Given the description of an element on the screen output the (x, y) to click on. 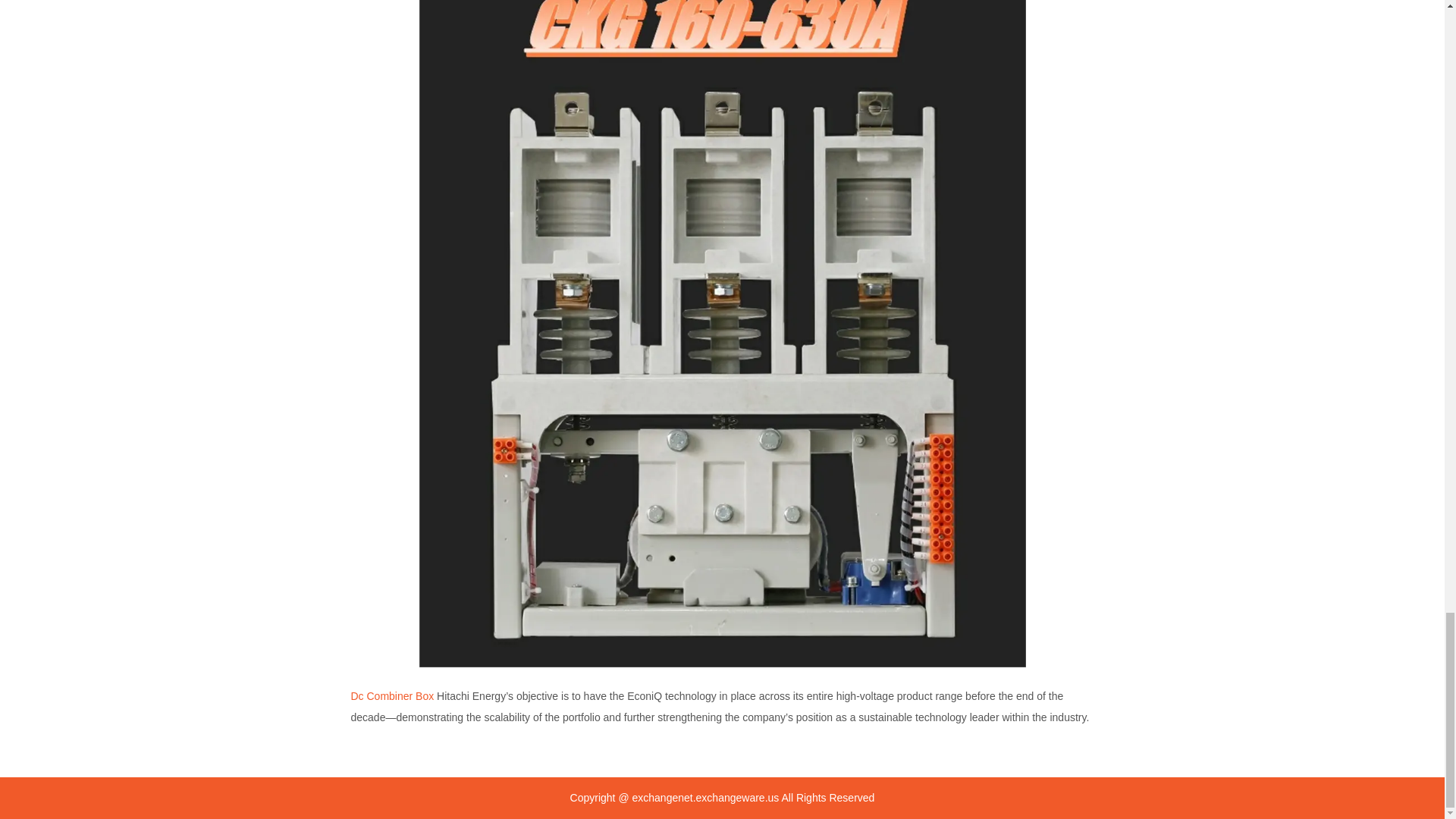
Dc Combiner Box (391, 695)
